Given the description of an element on the screen output the (x, y) to click on. 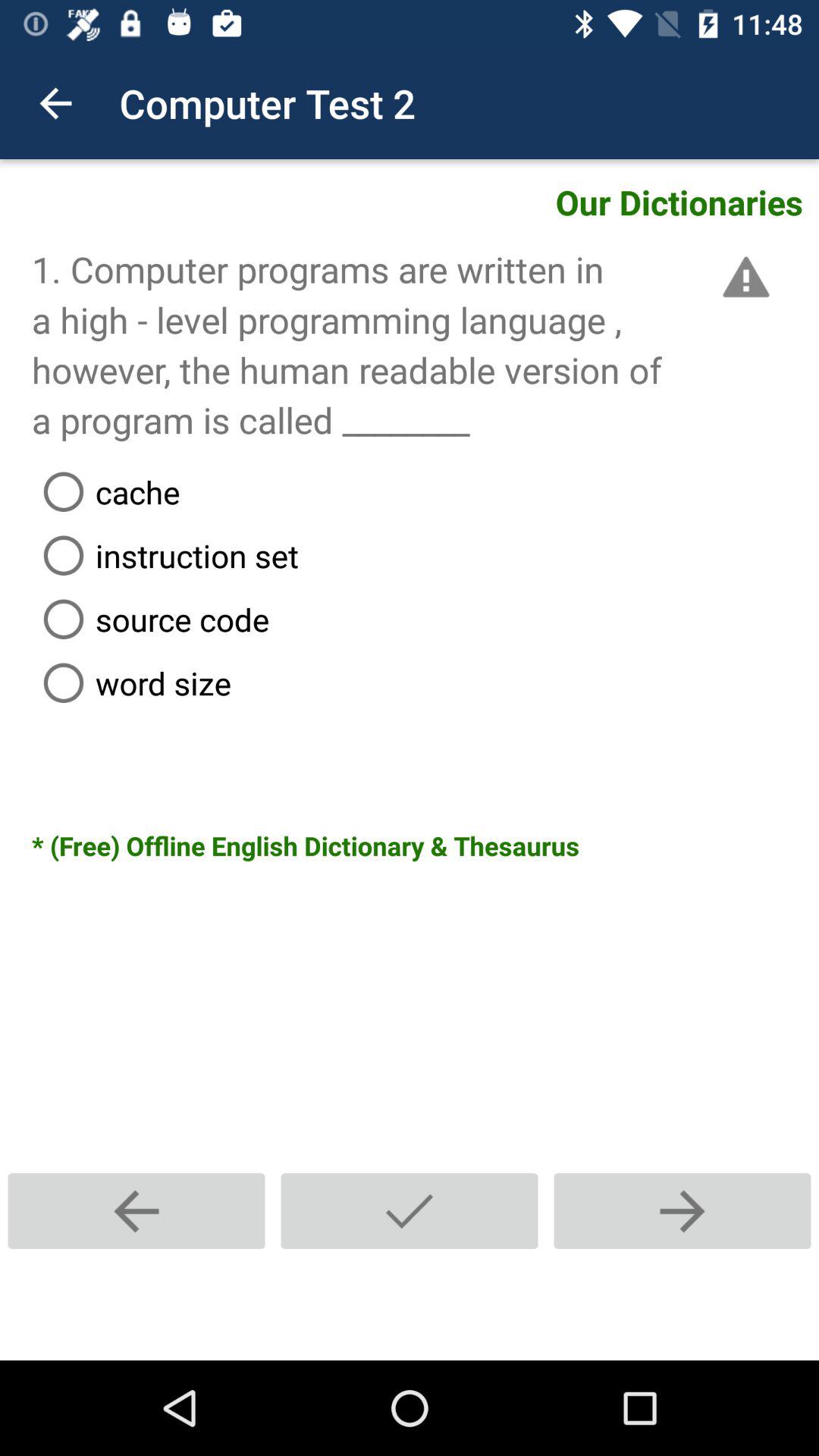
jump until word size item (425, 682)
